Given the description of an element on the screen output the (x, y) to click on. 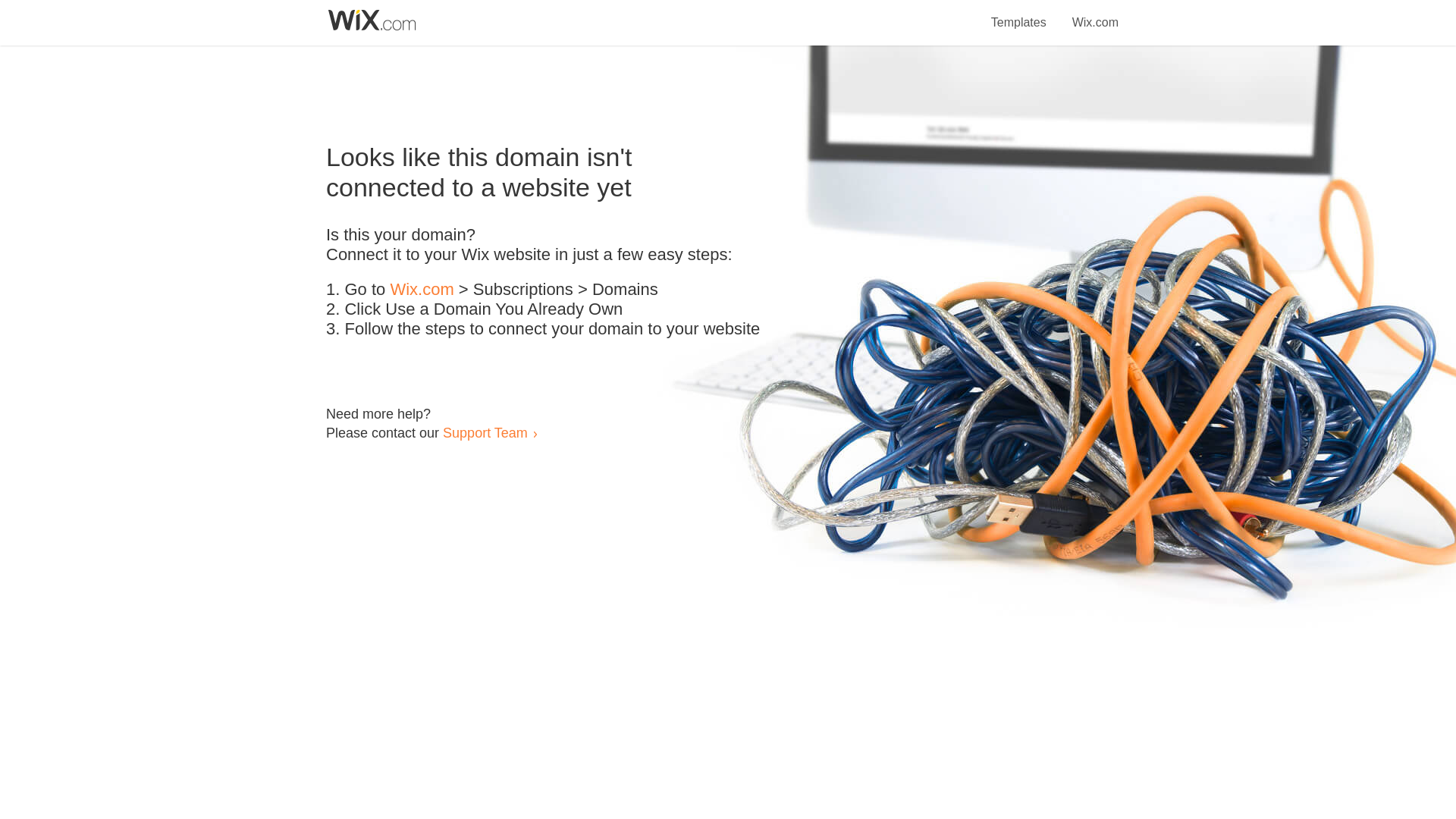
Wix.com (421, 289)
Support Team (484, 432)
Templates (1018, 14)
Wix.com (1095, 14)
